Given the description of an element on the screen output the (x, y) to click on. 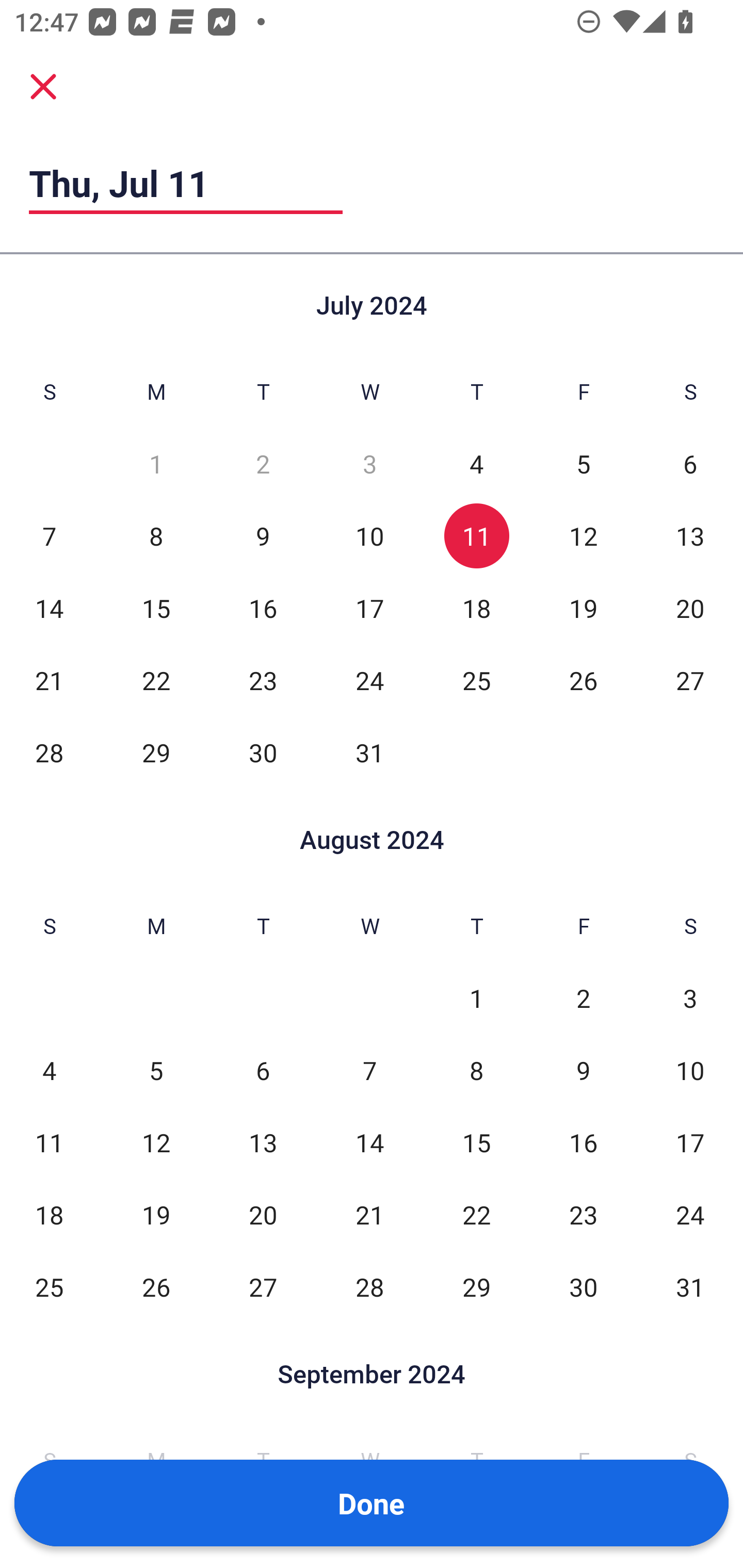
Cancel (43, 86)
Thu, Jul 11 (185, 182)
1 Mon, Jul 1, Not Selected (156, 464)
2 Tue, Jul 2, Not Selected (263, 464)
3 Wed, Jul 3, Not Selected (369, 464)
4 Thu, Jul 4, Not Selected (476, 464)
5 Fri, Jul 5, Not Selected (583, 464)
6 Sat, Jul 6, Not Selected (690, 464)
7 Sun, Jul 7, Not Selected (49, 536)
8 Mon, Jul 8, Not Selected (156, 536)
9 Tue, Jul 9, Not Selected (263, 536)
10 Wed, Jul 10, Not Selected (369, 536)
11 Thu, Jul 11, Selected (476, 536)
12 Fri, Jul 12, Not Selected (583, 536)
13 Sat, Jul 13, Not Selected (690, 536)
14 Sun, Jul 14, Not Selected (49, 608)
15 Mon, Jul 15, Not Selected (156, 608)
16 Tue, Jul 16, Not Selected (263, 608)
17 Wed, Jul 17, Not Selected (369, 608)
18 Thu, Jul 18, Not Selected (476, 608)
19 Fri, Jul 19, Not Selected (583, 608)
20 Sat, Jul 20, Not Selected (690, 608)
21 Sun, Jul 21, Not Selected (49, 680)
22 Mon, Jul 22, Not Selected (156, 680)
23 Tue, Jul 23, Not Selected (263, 680)
24 Wed, Jul 24, Not Selected (369, 680)
25 Thu, Jul 25, Not Selected (476, 680)
26 Fri, Jul 26, Not Selected (583, 680)
27 Sat, Jul 27, Not Selected (690, 680)
28 Sun, Jul 28, Not Selected (49, 752)
29 Mon, Jul 29, Not Selected (156, 752)
30 Tue, Jul 30, Not Selected (263, 752)
31 Wed, Jul 31, Not Selected (369, 752)
1 Thu, Aug 1, Not Selected (476, 997)
2 Fri, Aug 2, Not Selected (583, 997)
3 Sat, Aug 3, Not Selected (690, 997)
4 Sun, Aug 4, Not Selected (49, 1070)
5 Mon, Aug 5, Not Selected (156, 1070)
6 Tue, Aug 6, Not Selected (263, 1070)
7 Wed, Aug 7, Not Selected (369, 1070)
8 Thu, Aug 8, Not Selected (476, 1070)
9 Fri, Aug 9, Not Selected (583, 1070)
10 Sat, Aug 10, Not Selected (690, 1070)
11 Sun, Aug 11, Not Selected (49, 1143)
12 Mon, Aug 12, Not Selected (156, 1143)
13 Tue, Aug 13, Not Selected (263, 1143)
14 Wed, Aug 14, Not Selected (369, 1143)
15 Thu, Aug 15, Not Selected (476, 1143)
16 Fri, Aug 16, Not Selected (583, 1143)
17 Sat, Aug 17, Not Selected (690, 1143)
